Given the description of an element on the screen output the (x, y) to click on. 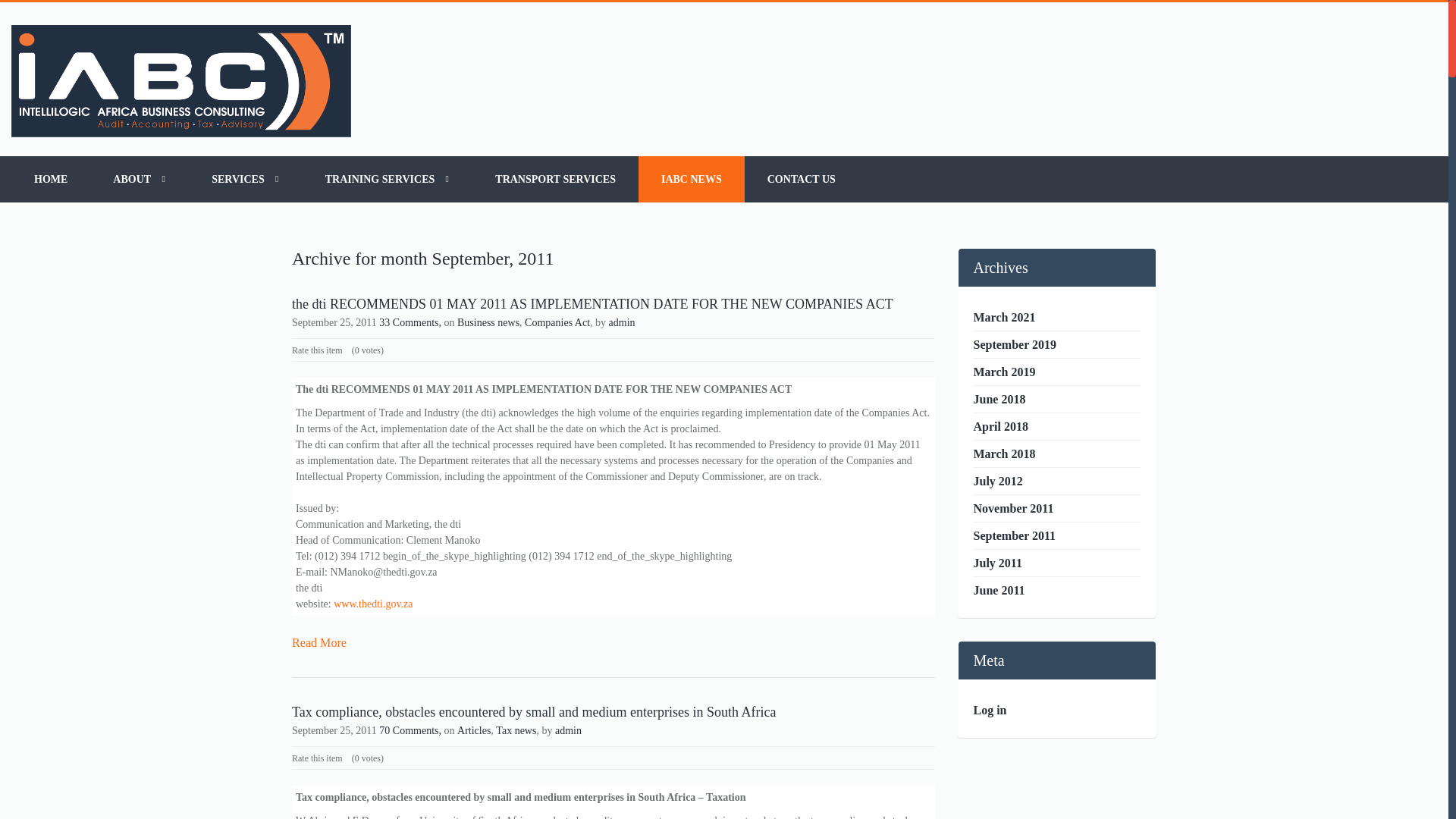
Companies Act (556, 322)
September 2011 (1015, 535)
TRAINING SERVICES (387, 179)
Posts by admin (621, 322)
ABOUT (139, 179)
HOME (50, 179)
IABC NEWS (691, 179)
June 2018 (1000, 399)
